Given the description of an element on the screen output the (x, y) to click on. 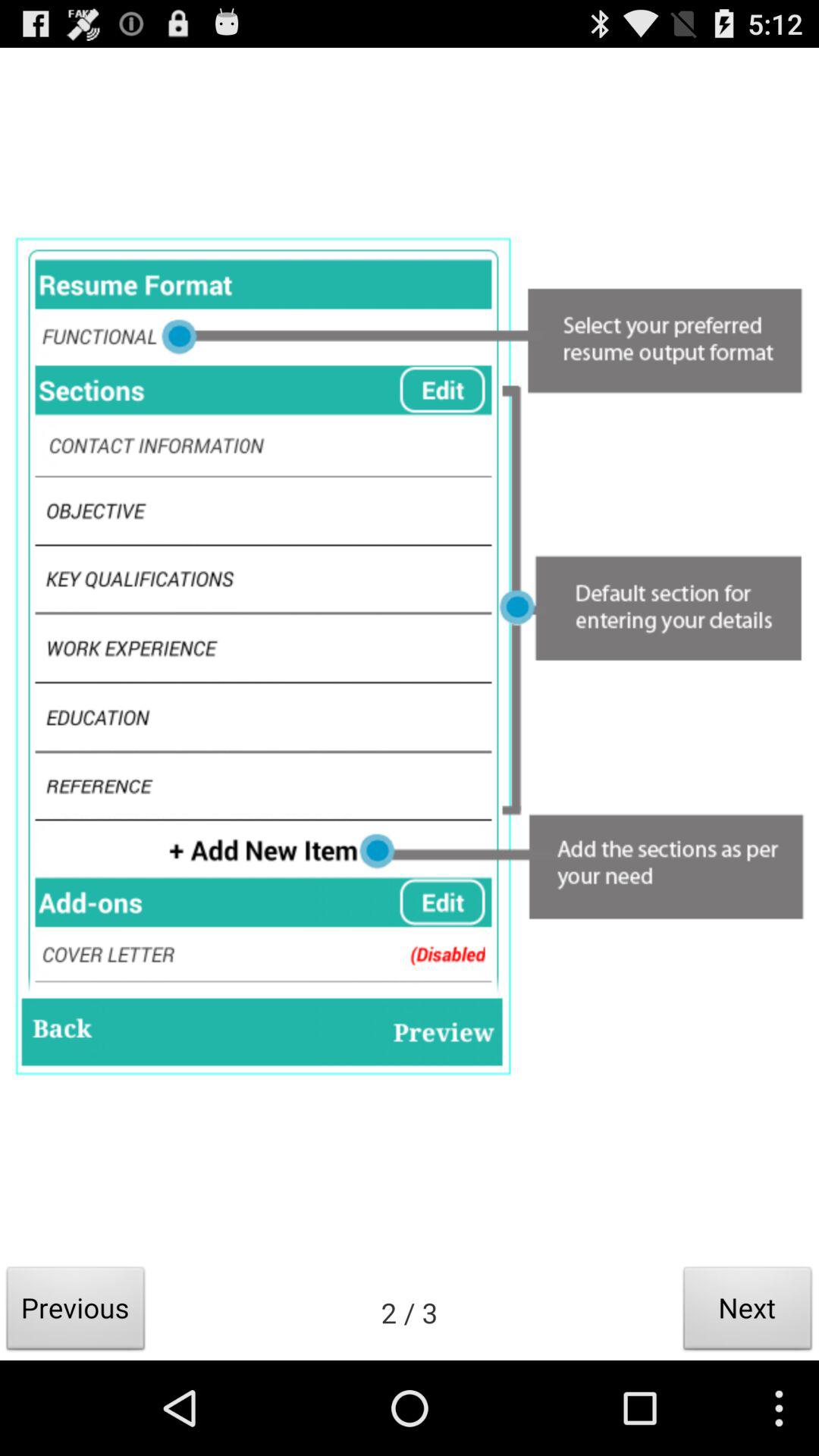
turn off item at the bottom left corner (75, 1312)
